Given the description of an element on the screen output the (x, y) to click on. 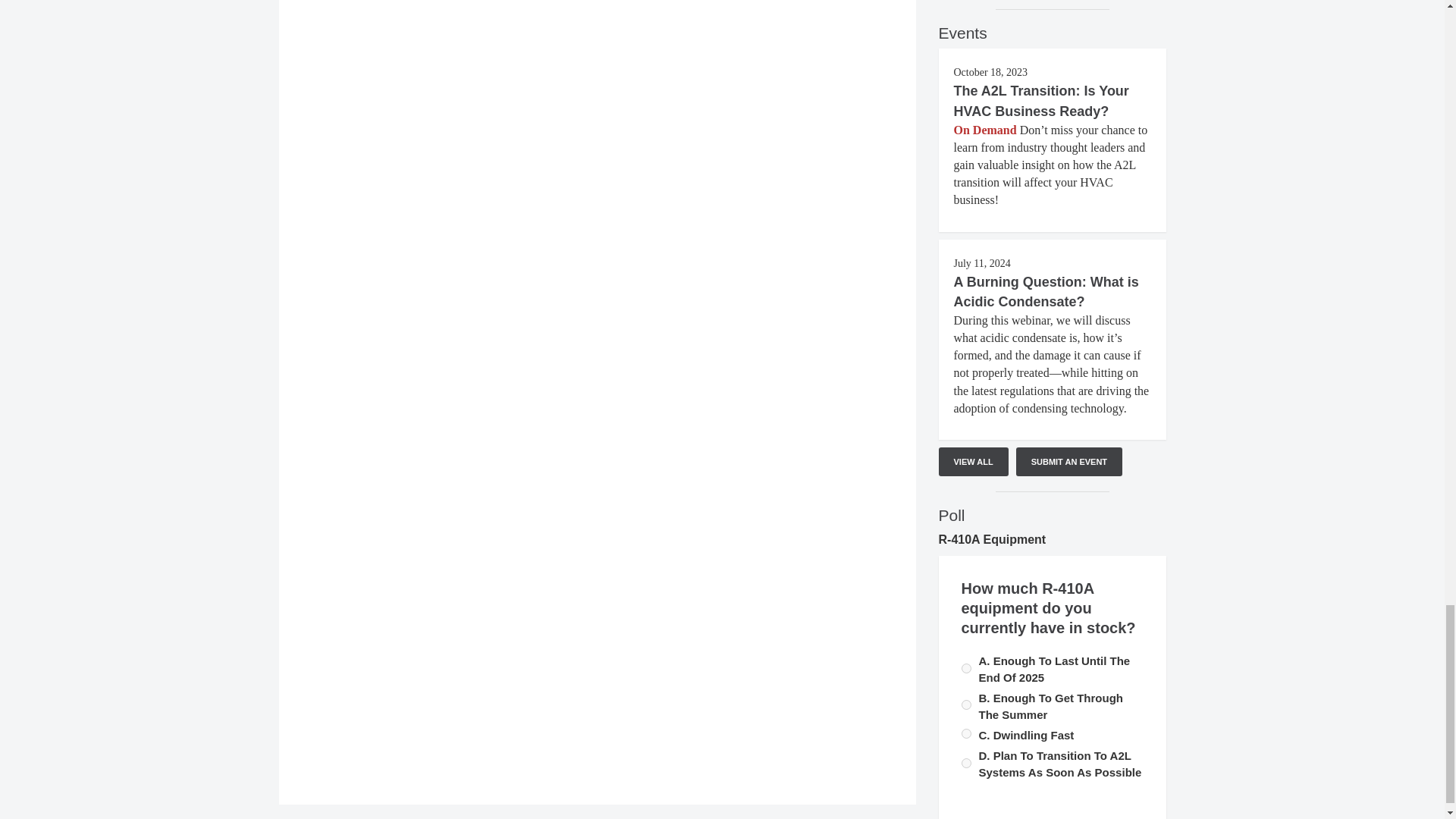
The A2L Transition: Is Your HVAC Business Ready? (1041, 100)
599 (965, 763)
597 (965, 668)
A Burning Question: What is Acidic Condensate? (1045, 291)
596 (965, 705)
598 (965, 733)
